Given the description of an element on the screen output the (x, y) to click on. 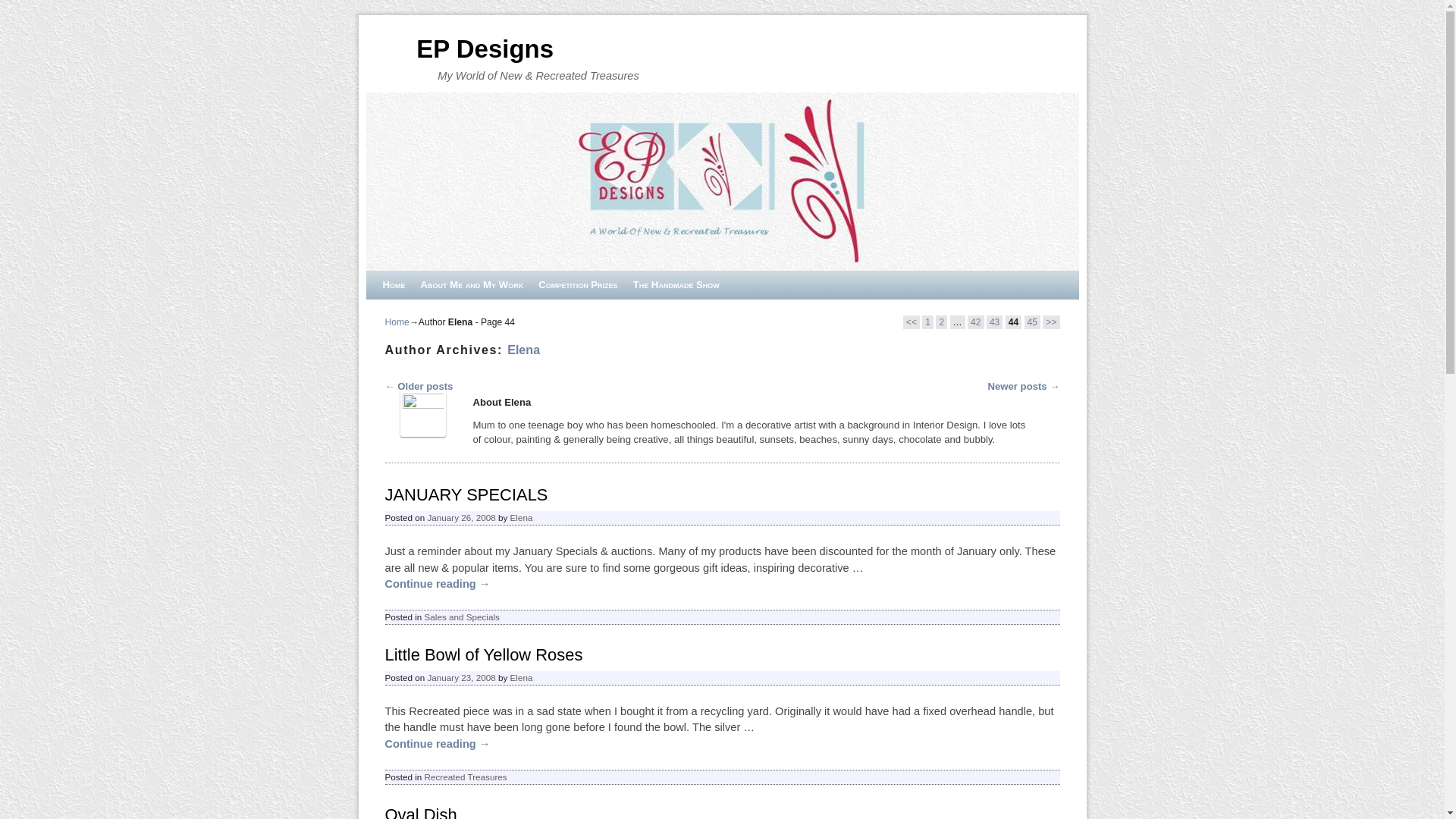
45 Element type: text (1032, 322)
43 Element type: text (994, 322)
The Handmade Show Element type: text (676, 284)
About Me and My Work Element type: text (472, 284)
>> Element type: text (1050, 322)
January 26, 2008 Element type: text (460, 517)
EP Designs Element type: text (484, 48)
42 Element type: text (975, 322)
2 Element type: text (941, 322)
Competition Prizes Element type: text (577, 284)
JANUARY SPECIALS Element type: text (466, 494)
Elena Element type: text (521, 677)
January 23, 2008 Element type: text (460, 677)
Home Element type: text (393, 284)
Recreated Treasures Element type: text (464, 776)
Sales and Specials Element type: text (460, 616)
Skip to secondary content Element type: text (417, 276)
Elena Element type: text (521, 517)
Home Element type: text (397, 321)
1 Element type: text (927, 322)
Little Bowl of Yellow Roses Element type: text (484, 654)
<< Element type: text (911, 322)
Elena Element type: text (523, 349)
Skip to primary content Element type: text (411, 276)
